Given the description of an element on the screen output the (x, y) to click on. 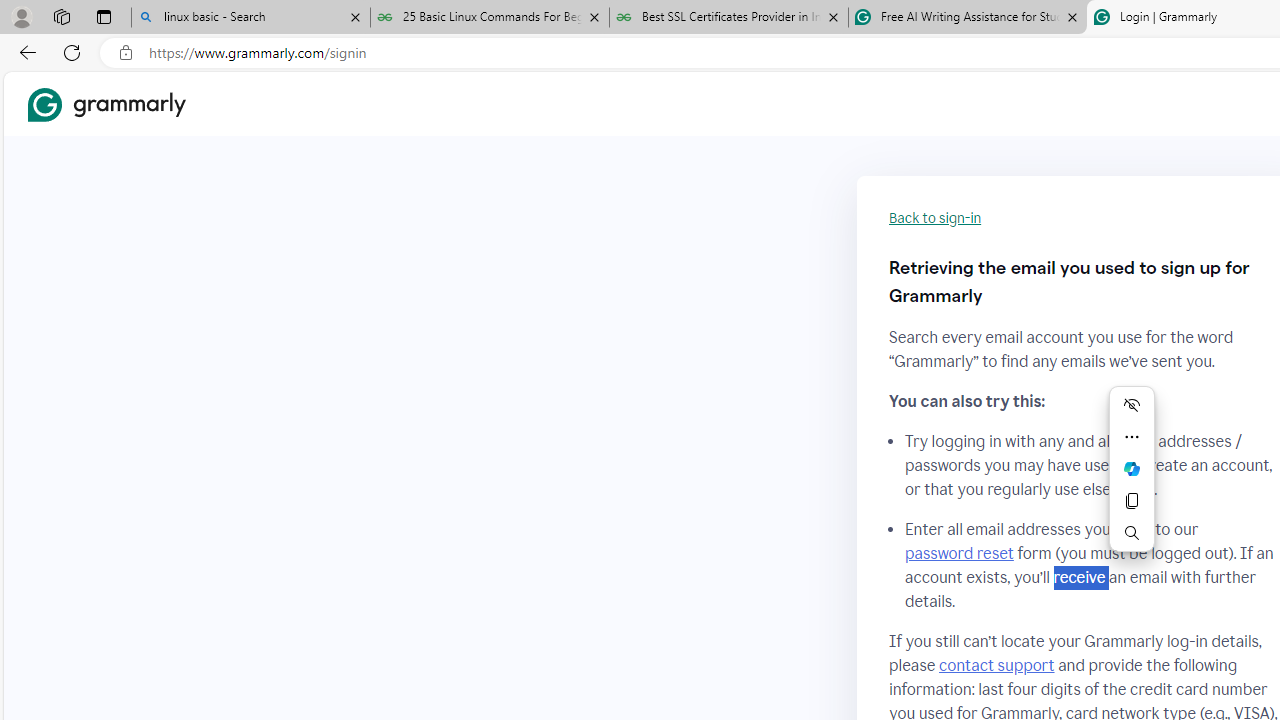
Ask Copilot (1131, 468)
Grammarly Home (106, 103)
Back to sign-in (935, 218)
linux basic - Search (250, 17)
Grammarly Home (106, 104)
